Given the description of an element on the screen output the (x, y) to click on. 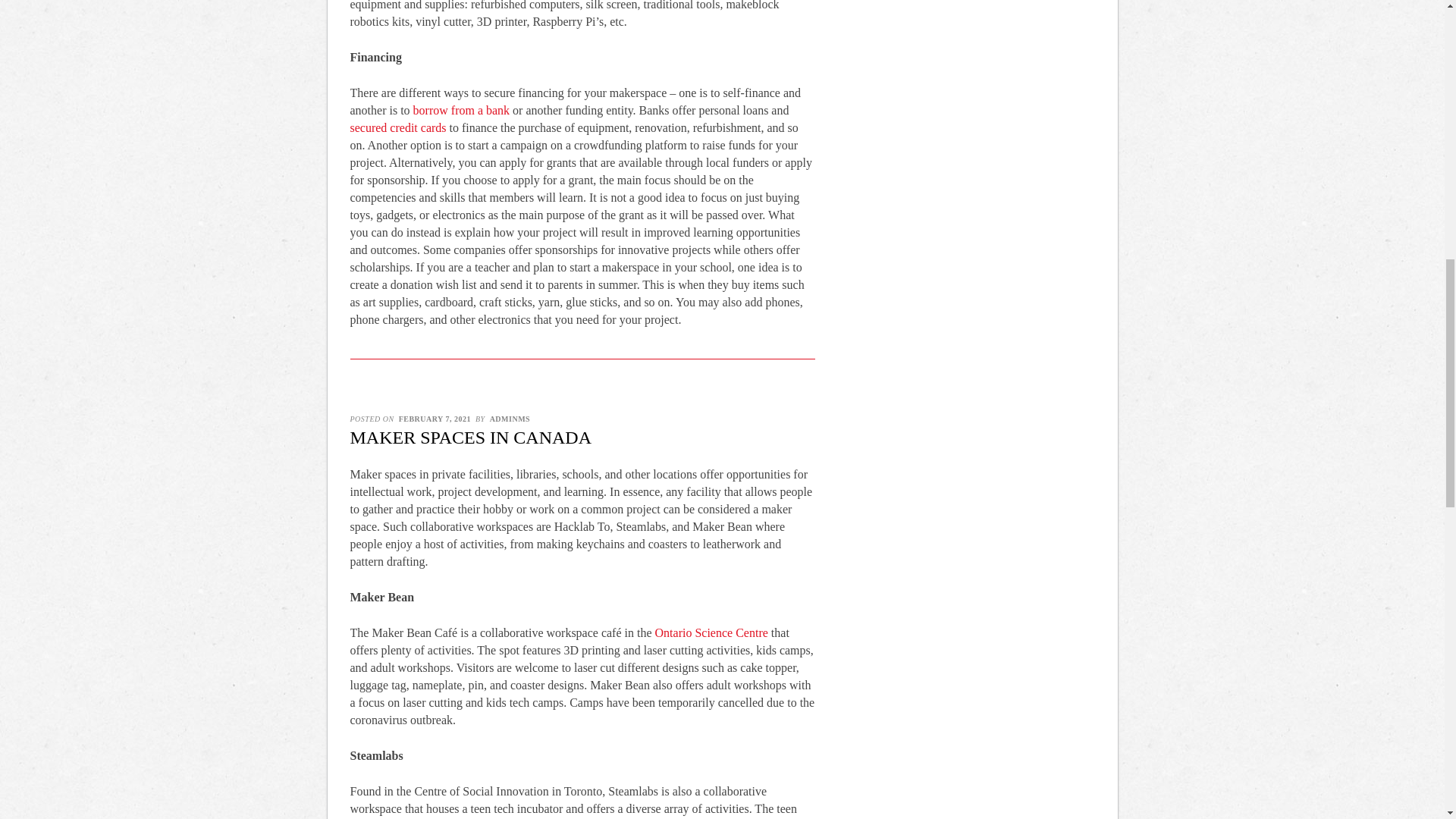
borrow from a bank (462, 110)
Ontario Science Centre (711, 632)
FEBRUARY 7, 2021 (434, 418)
MAKER SPACES IN CANADA (471, 437)
Permalink to Maker Spaces in Canada (471, 437)
ADMINMS (509, 418)
View all posts by adminMS (509, 418)
8:21 pm (434, 418)
secured credit cards (398, 127)
